Given the description of an element on the screen output the (x, y) to click on. 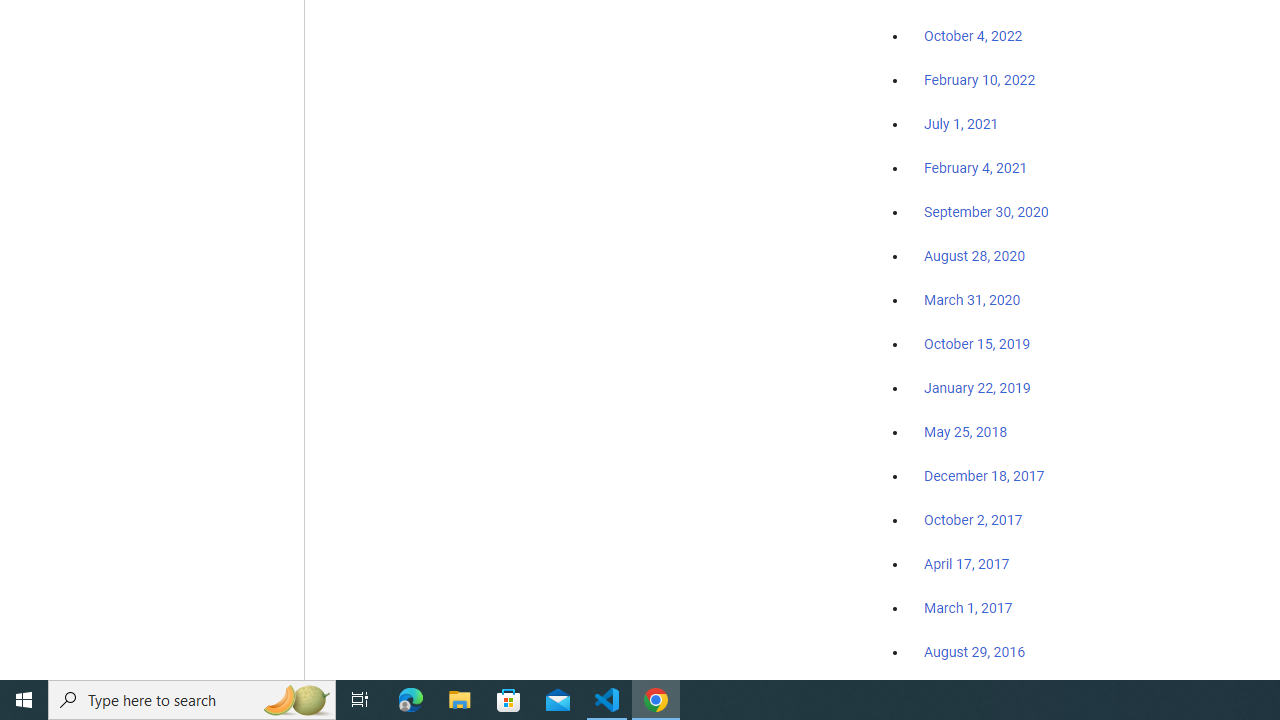
July 1, 2021 (961, 124)
February 4, 2021 (975, 168)
September 30, 2020 (986, 212)
December 18, 2017 (984, 476)
March 1, 2017 (968, 608)
October 2, 2017 (973, 520)
April 17, 2017 (966, 564)
August 29, 2016 (974, 651)
May 25, 2018 (966, 431)
October 15, 2019 (977, 343)
January 22, 2019 (977, 387)
March 31, 2020 (972, 299)
October 4, 2022 (973, 37)
February 10, 2022 (979, 81)
August 28, 2020 (974, 255)
